Given the description of an element on the screen output the (x, y) to click on. 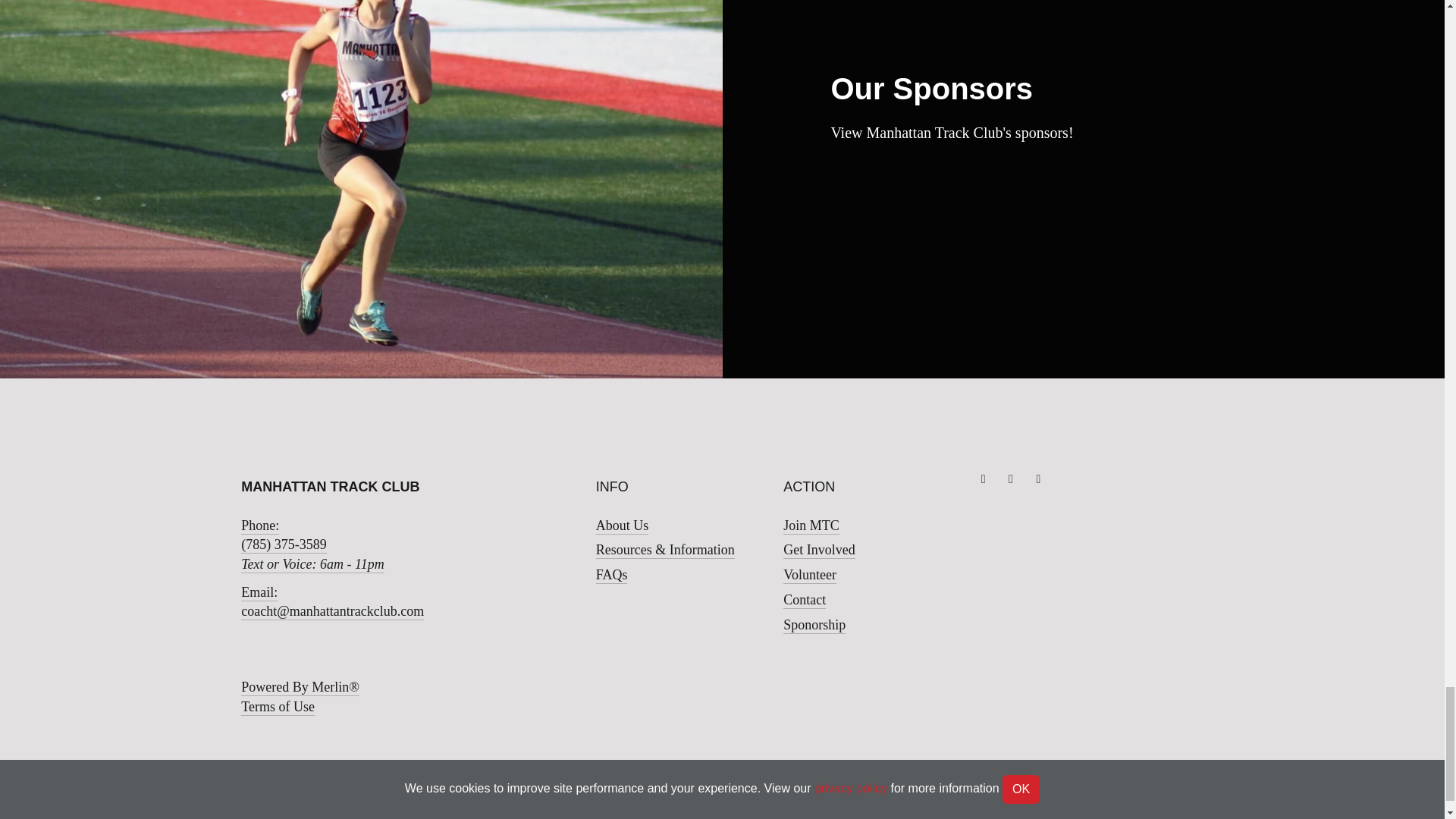
Sponsors (953, 132)
